Given the description of an element on the screen output the (x, y) to click on. 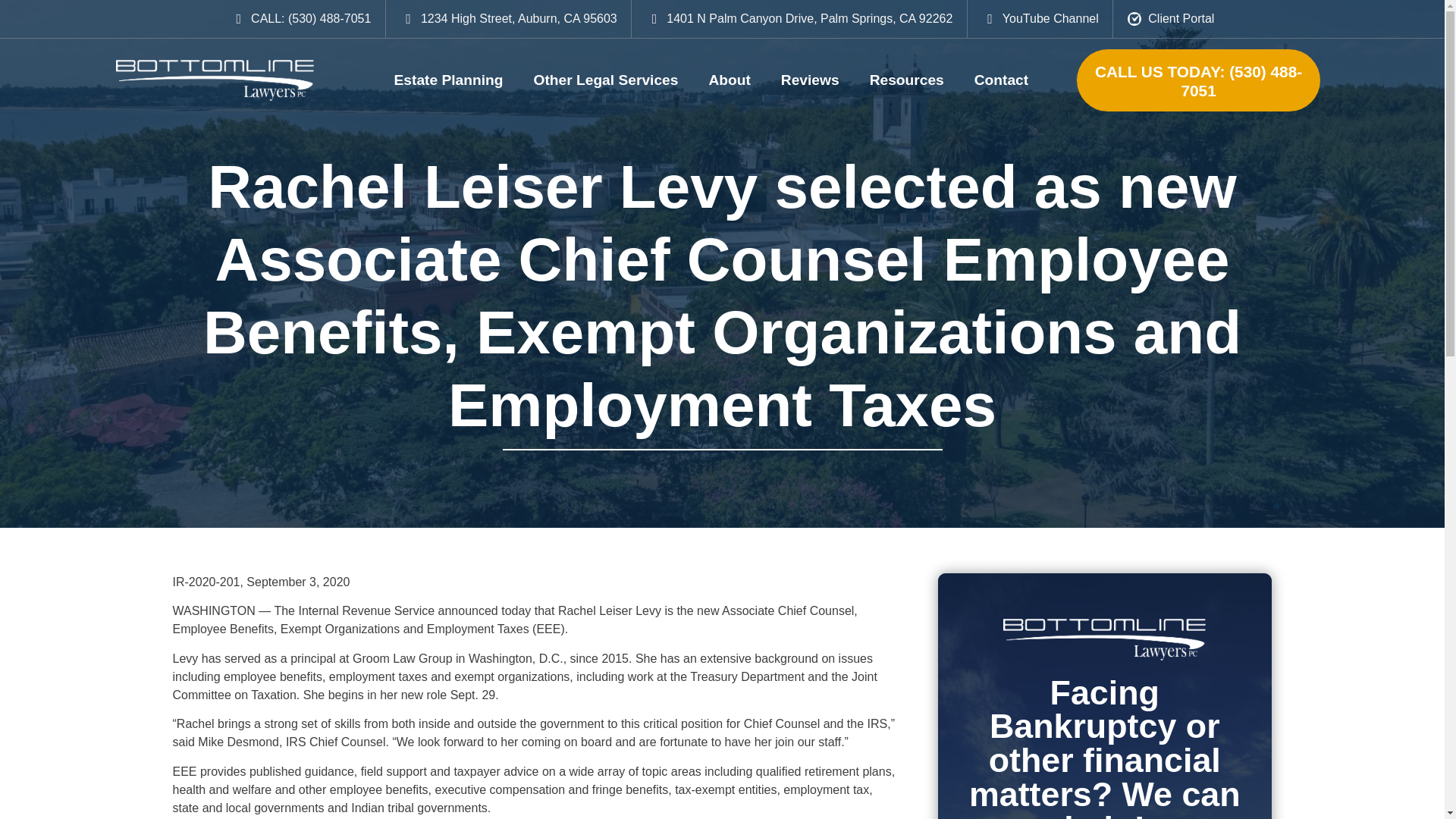
Client Portal (1170, 18)
Other Legal Services (606, 80)
1234 High Street, Auburn, CA 95603 (506, 18)
Estate Planning (448, 80)
1401 N Palm Canyon Drive, Palm Springs, CA 92262 (799, 18)
YouTube Channel (1039, 18)
